Given the description of an element on the screen output the (x, y) to click on. 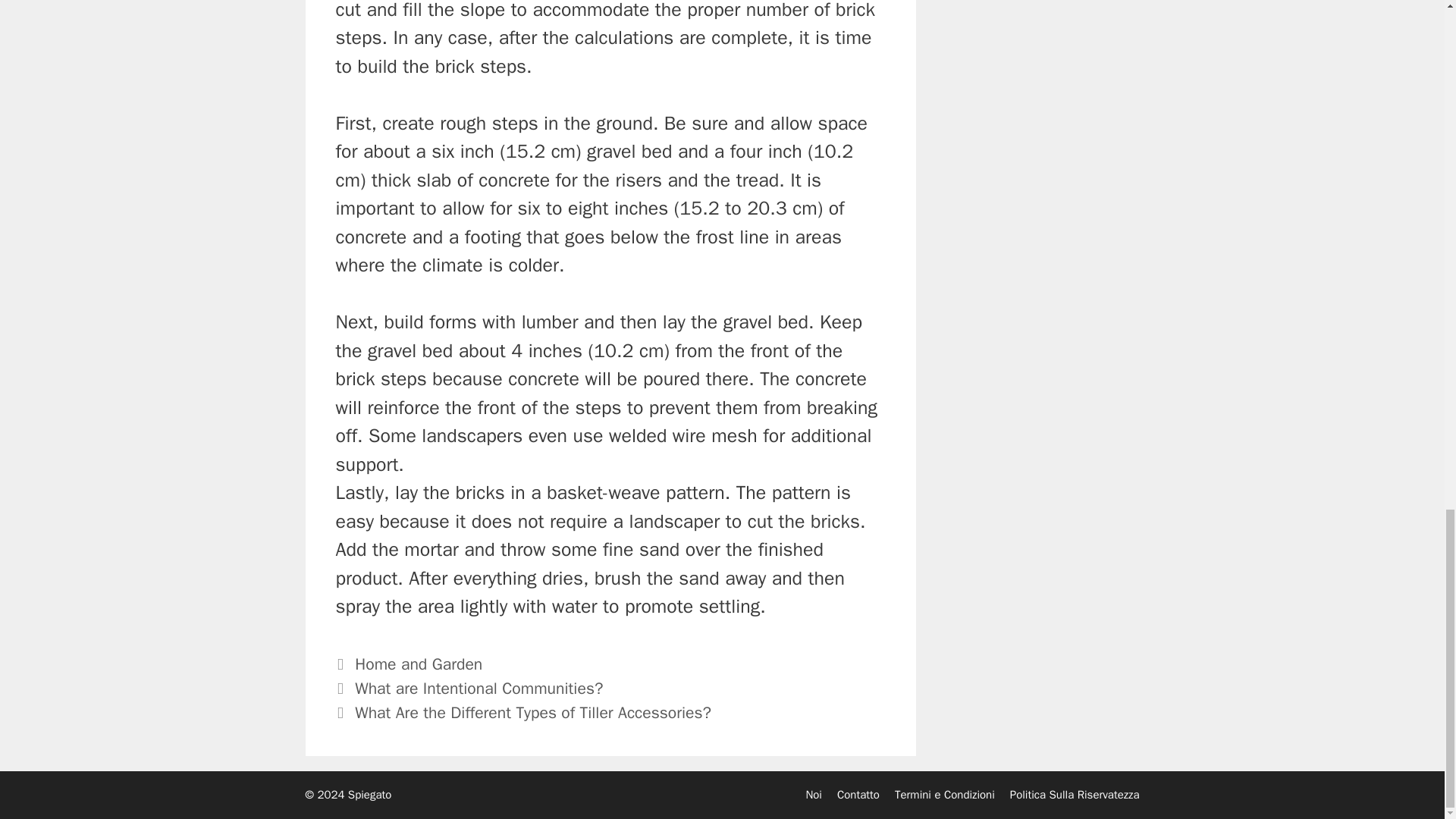
What Are the Different Types of Tiller Accessories? (533, 712)
What are Intentional Communities? (478, 688)
Home and Garden (418, 664)
Termini e Condizioni (944, 794)
Politica Sulla Riservatezza (1075, 794)
Noi (813, 794)
Contatto (858, 794)
